Given the description of an element on the screen output the (x, y) to click on. 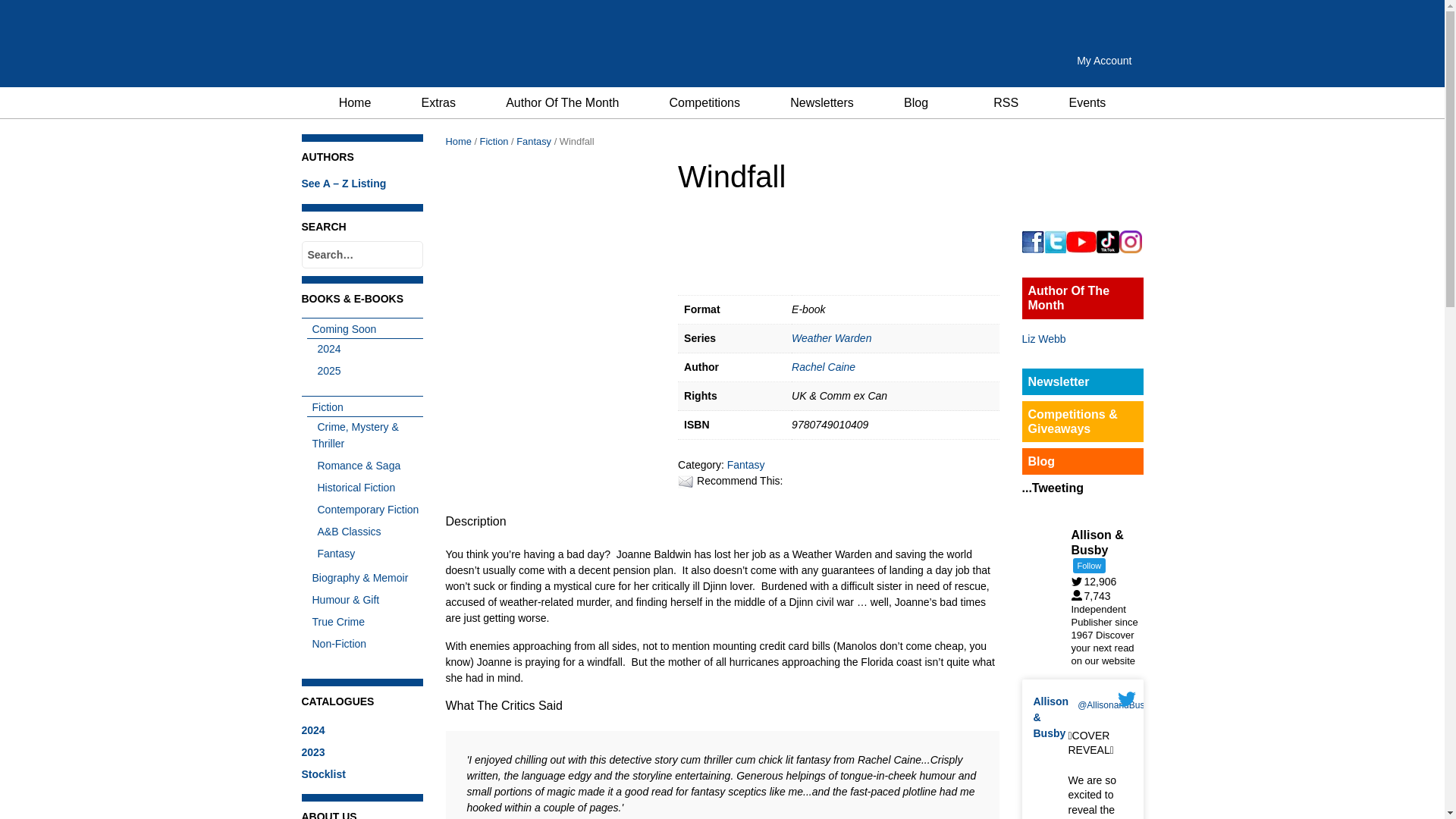
Fiction (323, 407)
2025 (326, 370)
Blog (916, 102)
Coming Soon (340, 328)
Competitions (704, 102)
2024 (312, 729)
2023 (312, 752)
Contemporary Fiction (366, 509)
Events (1087, 102)
Author Of The Month (561, 102)
2024 (326, 348)
7,743 Followers (1094, 595)
Newsletters (822, 102)
Stocklist (323, 774)
My Account (1104, 60)
